Given the description of an element on the screen output the (x, y) to click on. 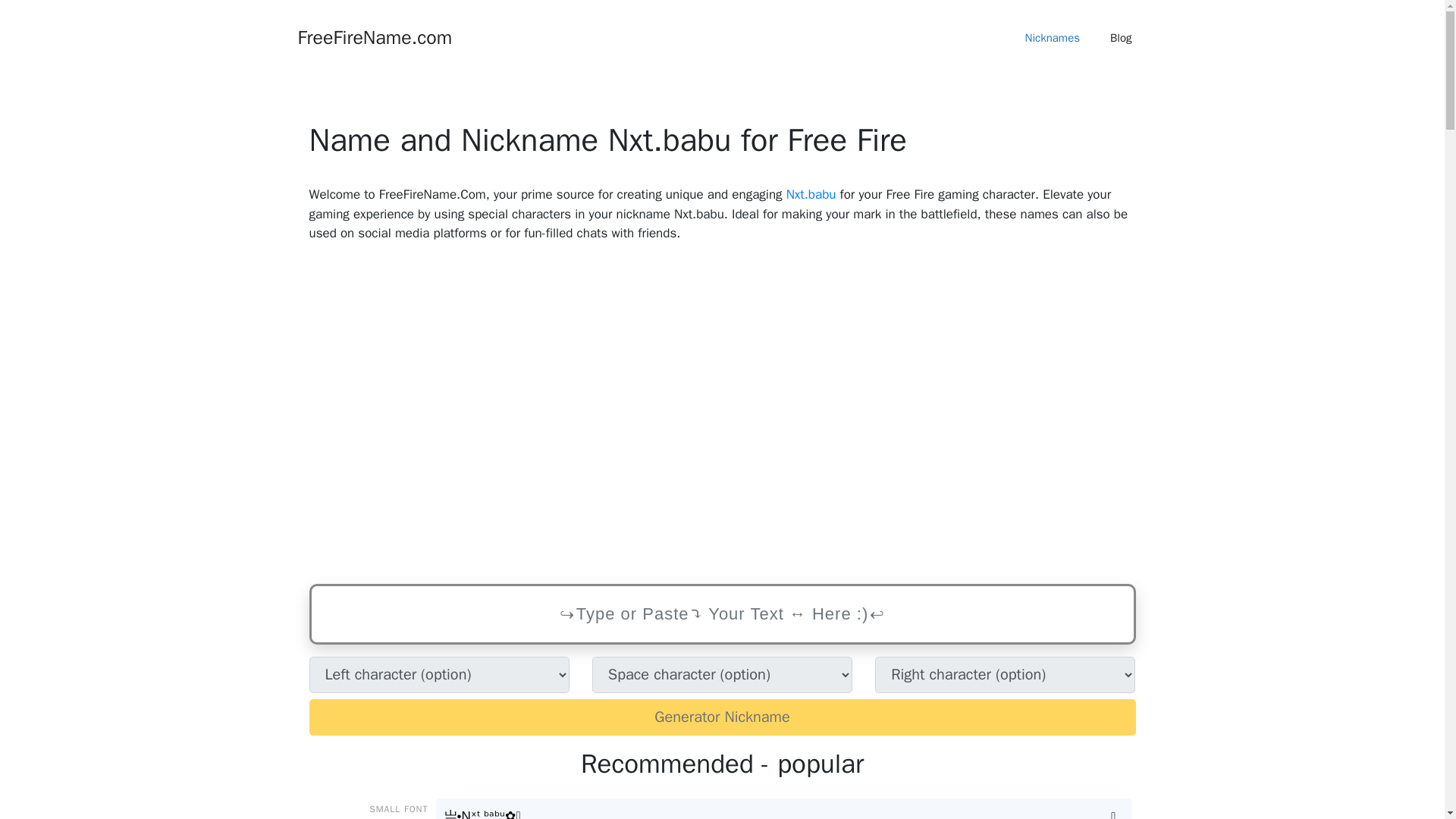
Generator Nickname (721, 717)
Nicknames (1053, 37)
Nxt.babu (810, 194)
Blog (1120, 37)
FreeFireName.com (374, 37)
Advertisement (721, 413)
